Given the description of an element on the screen output the (x, y) to click on. 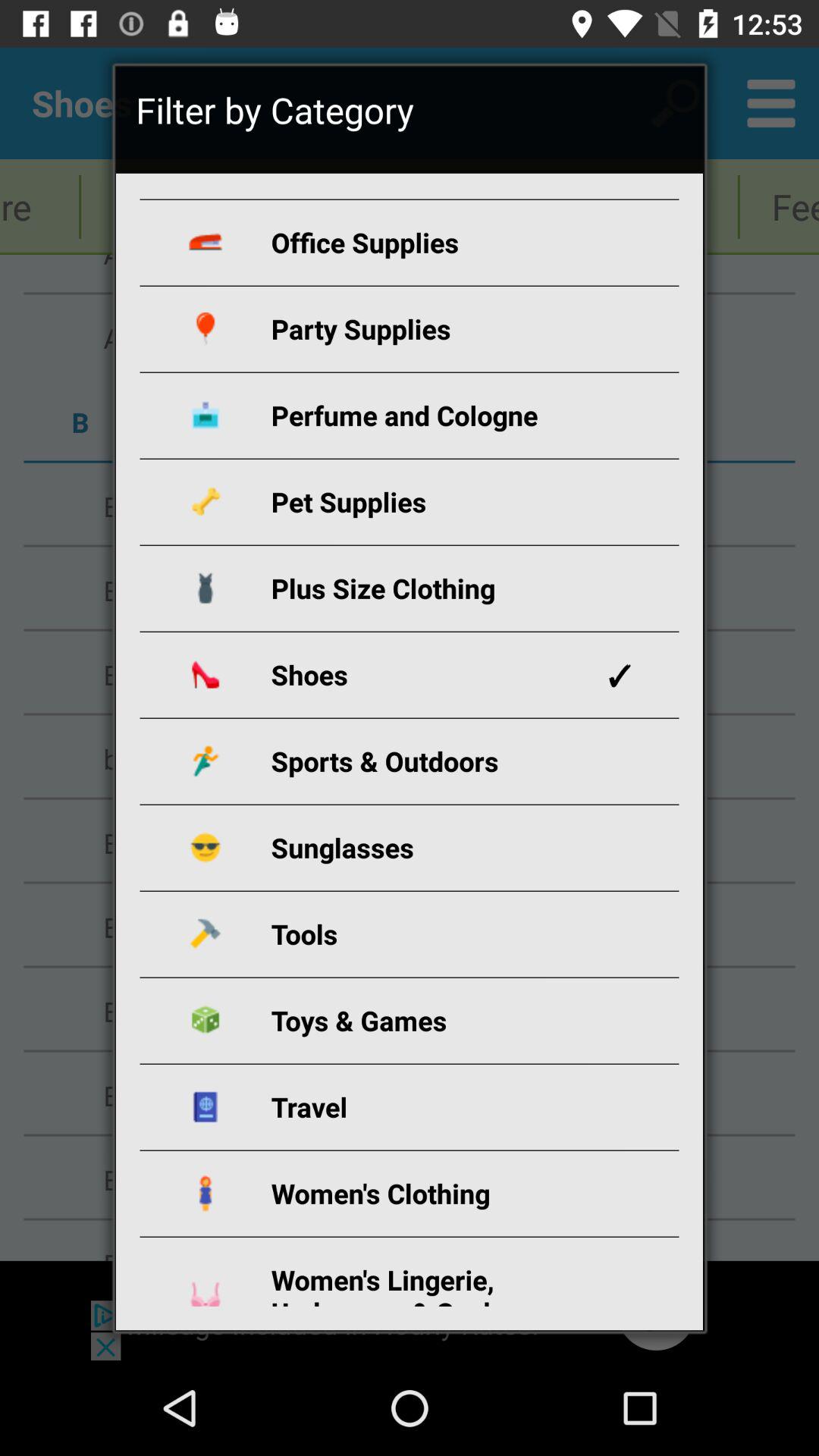
select the sunglasses app (427, 847)
